Given the description of an element on the screen output the (x, y) to click on. 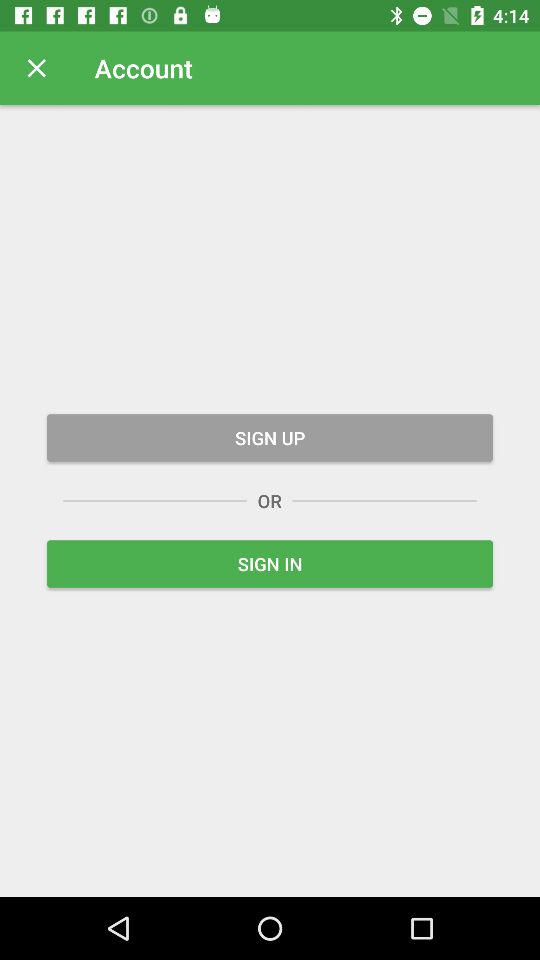
turn off icon next to account icon (36, 68)
